Given the description of an element on the screen output the (x, y) to click on. 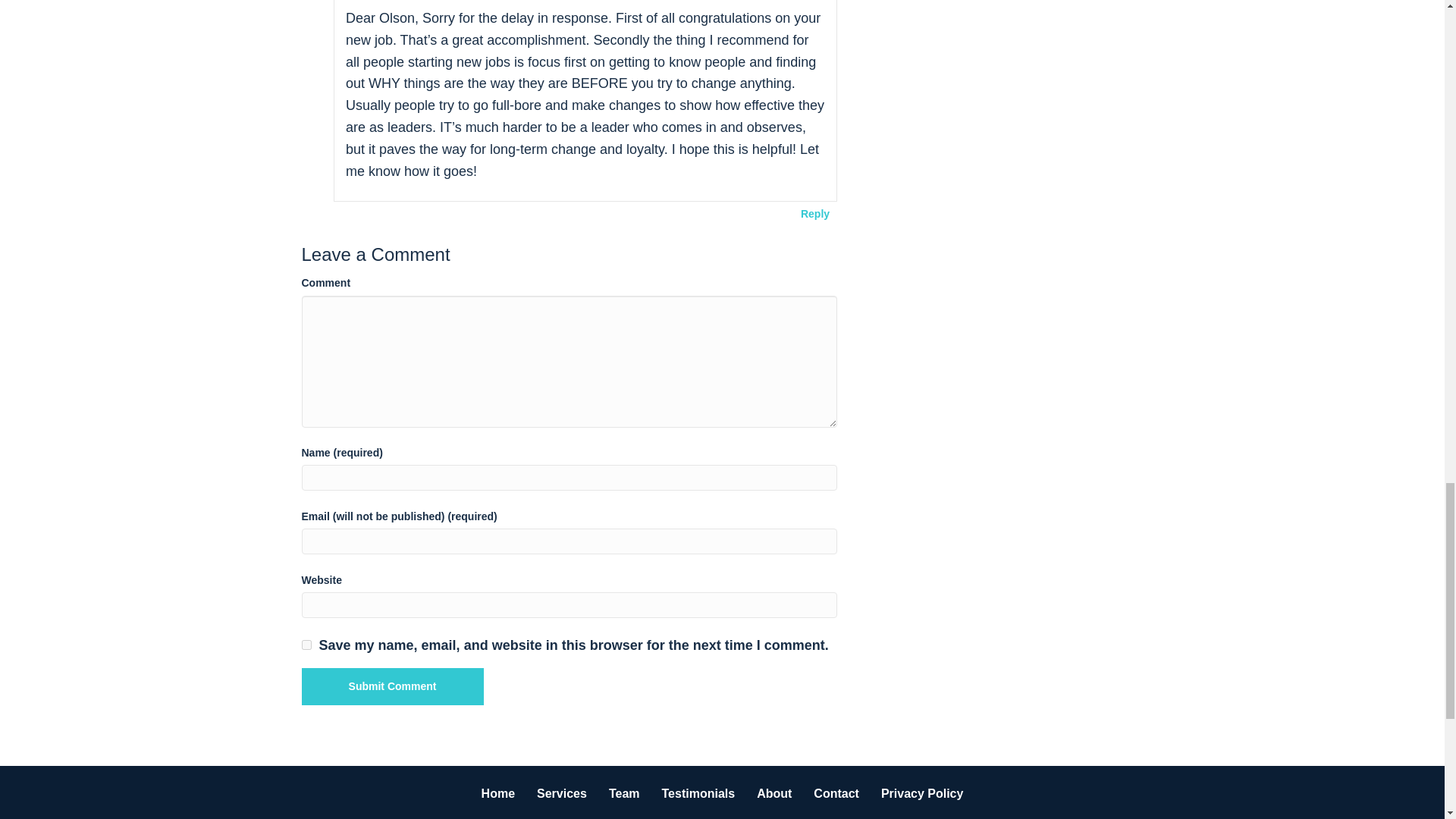
Submit Comment (392, 686)
Submit Comment (392, 686)
Reply (814, 213)
yes (306, 644)
